Given the description of an element on the screen output the (x, y) to click on. 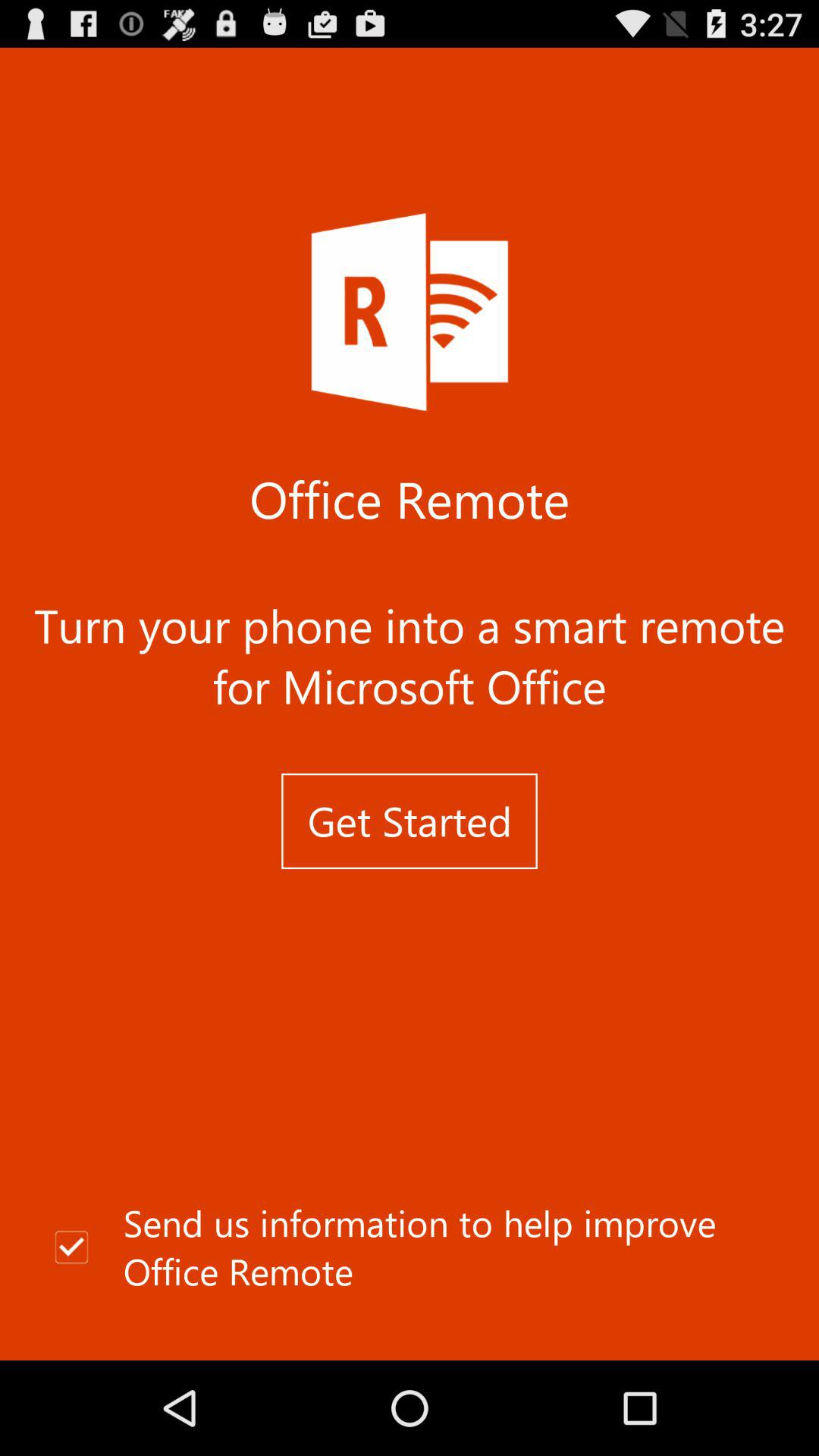
flip until the get started (409, 821)
